Given the description of an element on the screen output the (x, y) to click on. 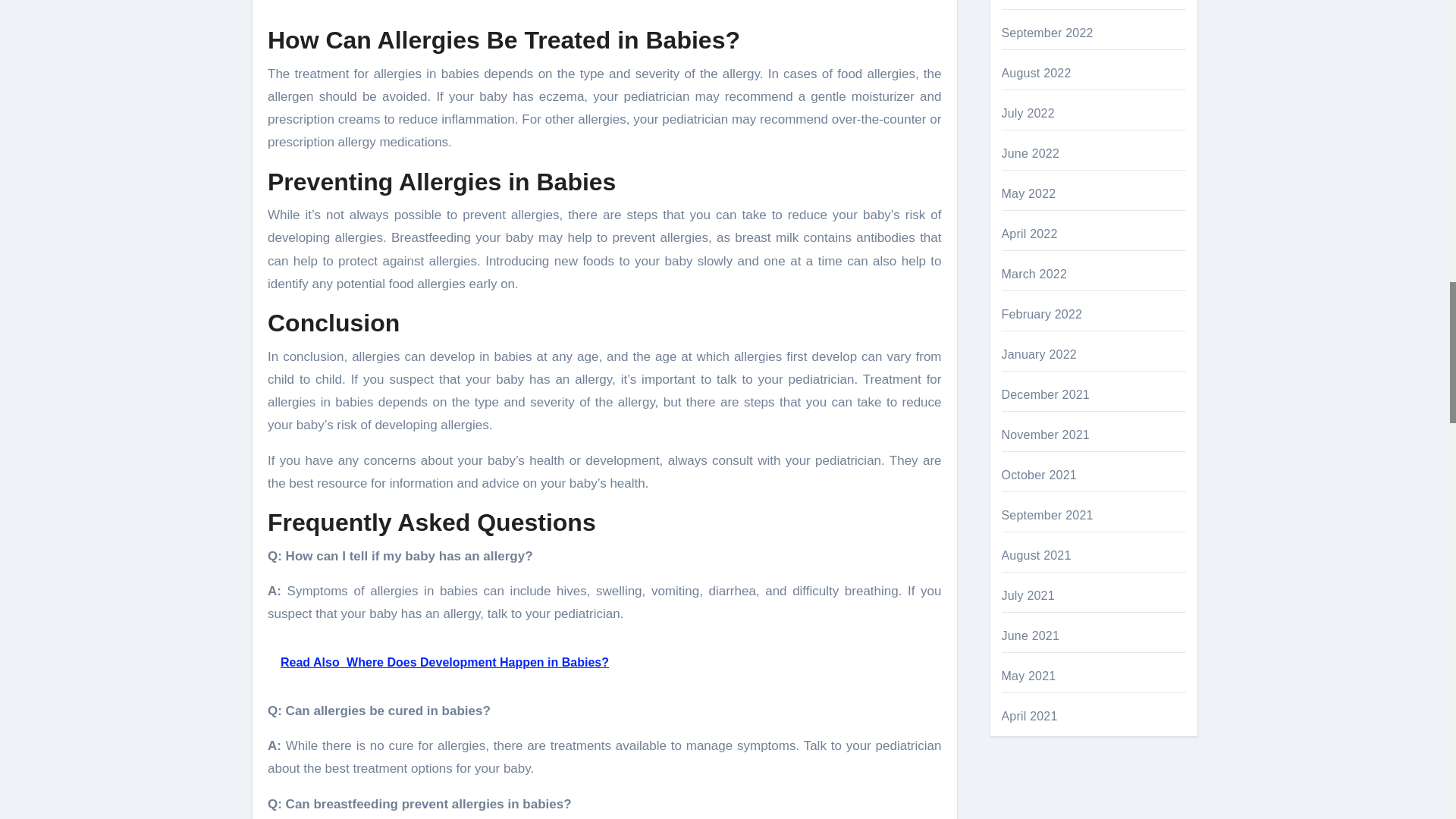
Read Also  When Does A Baby's Brain Develop In The Womb? (604, 6)
Read Also  Where Does Development Happen in Babies? (604, 662)
